Given the description of an element on the screen output the (x, y) to click on. 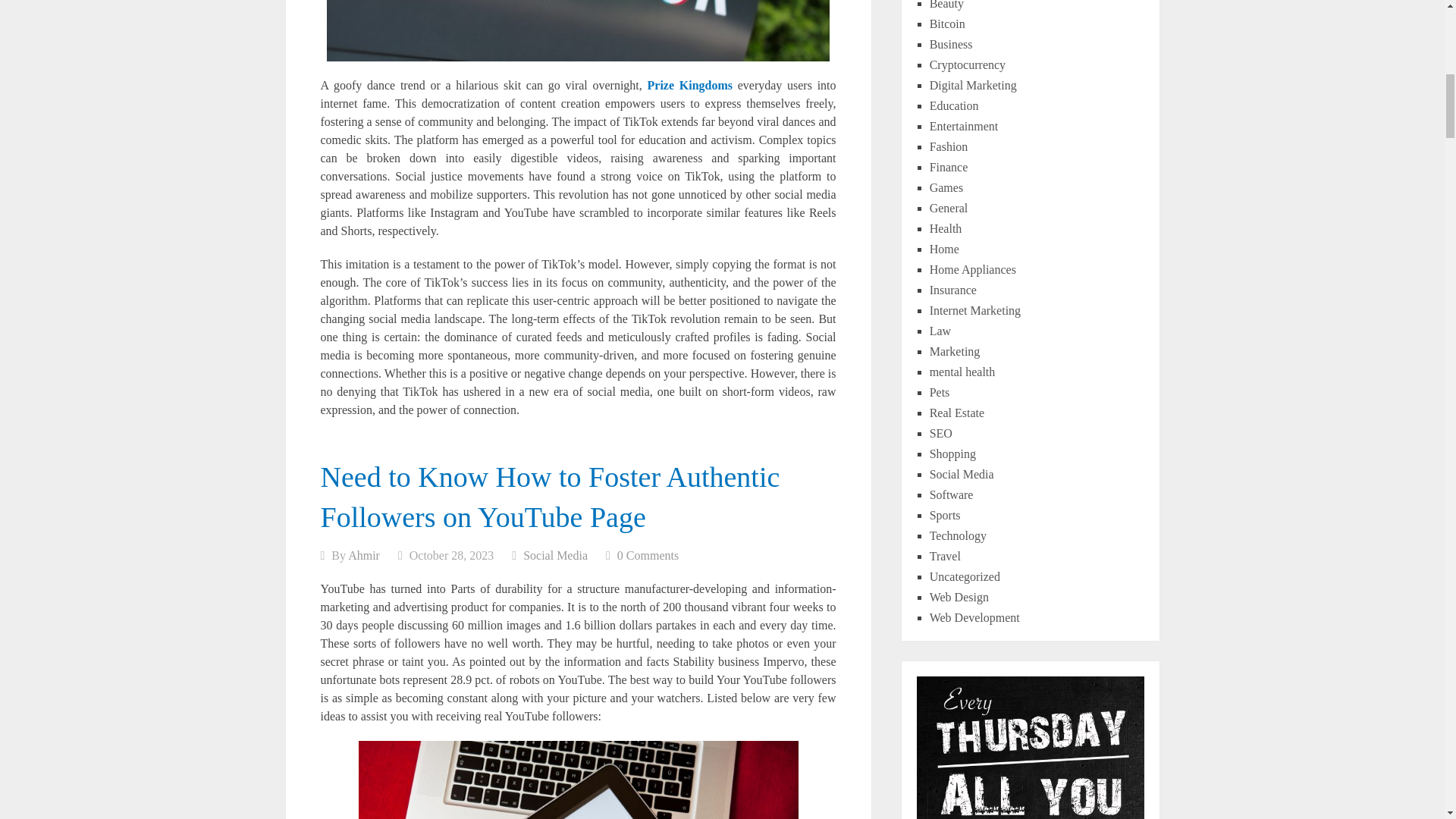
Ahmir (363, 554)
0 Comments (647, 554)
Social Media (555, 554)
Posts by Ahmir (363, 554)
Prize Kingdoms (689, 84)
